Given the description of an element on the screen output the (x, y) to click on. 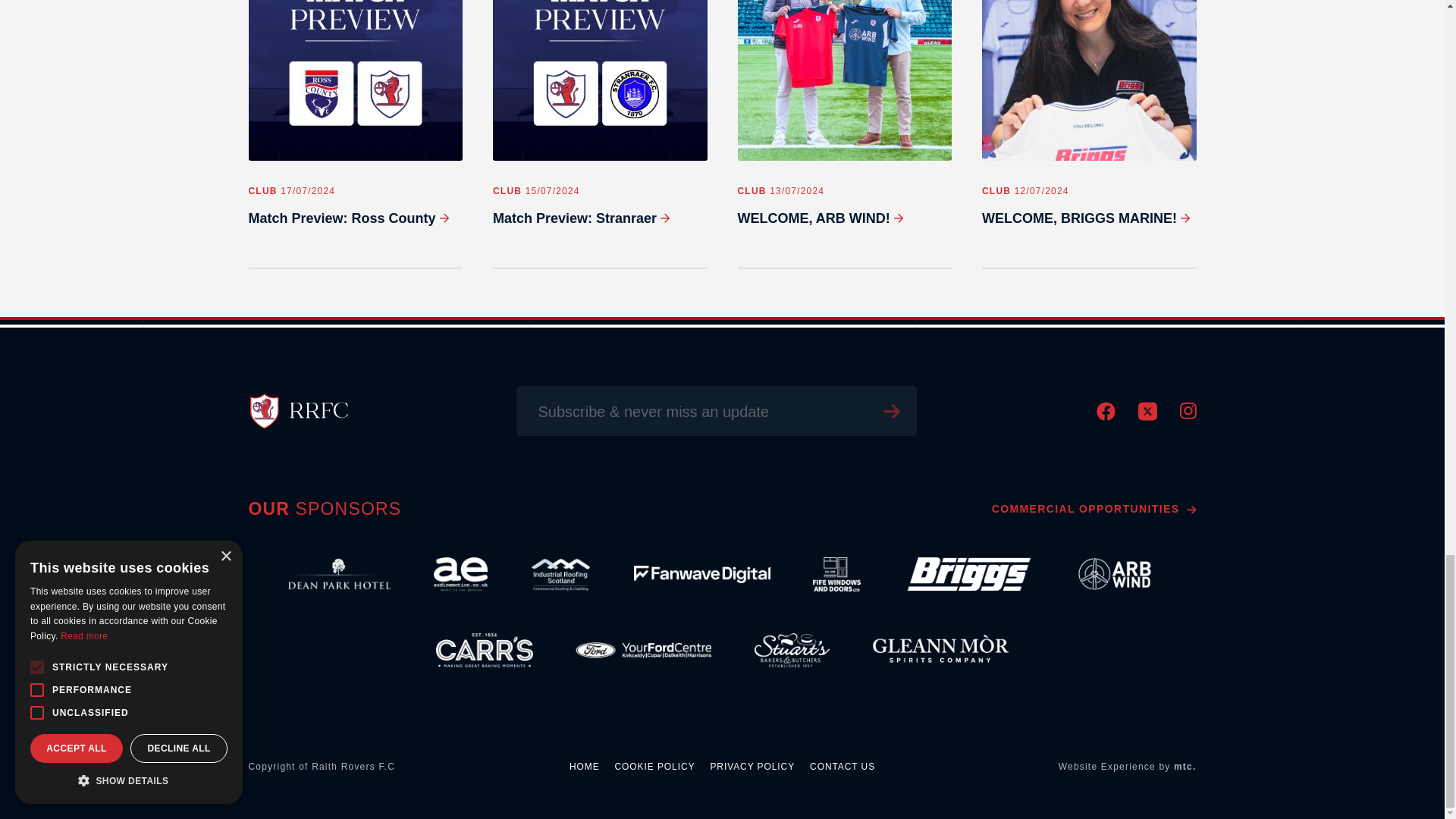
Brigg's Marine (966, 574)
Dean Park Hotel (339, 574)
Commercial Opportunities (1093, 508)
Your Ford Centre (643, 650)
Find us on Instagram (1187, 415)
Industrial Roofing Scotland (560, 574)
Find us on X (1146, 417)
ARB Wind (1114, 574)
Find us on Facebook (1105, 417)
Fanwave Digital (701, 574)
Carr's (484, 650)
